Given the description of an element on the screen output the (x, y) to click on. 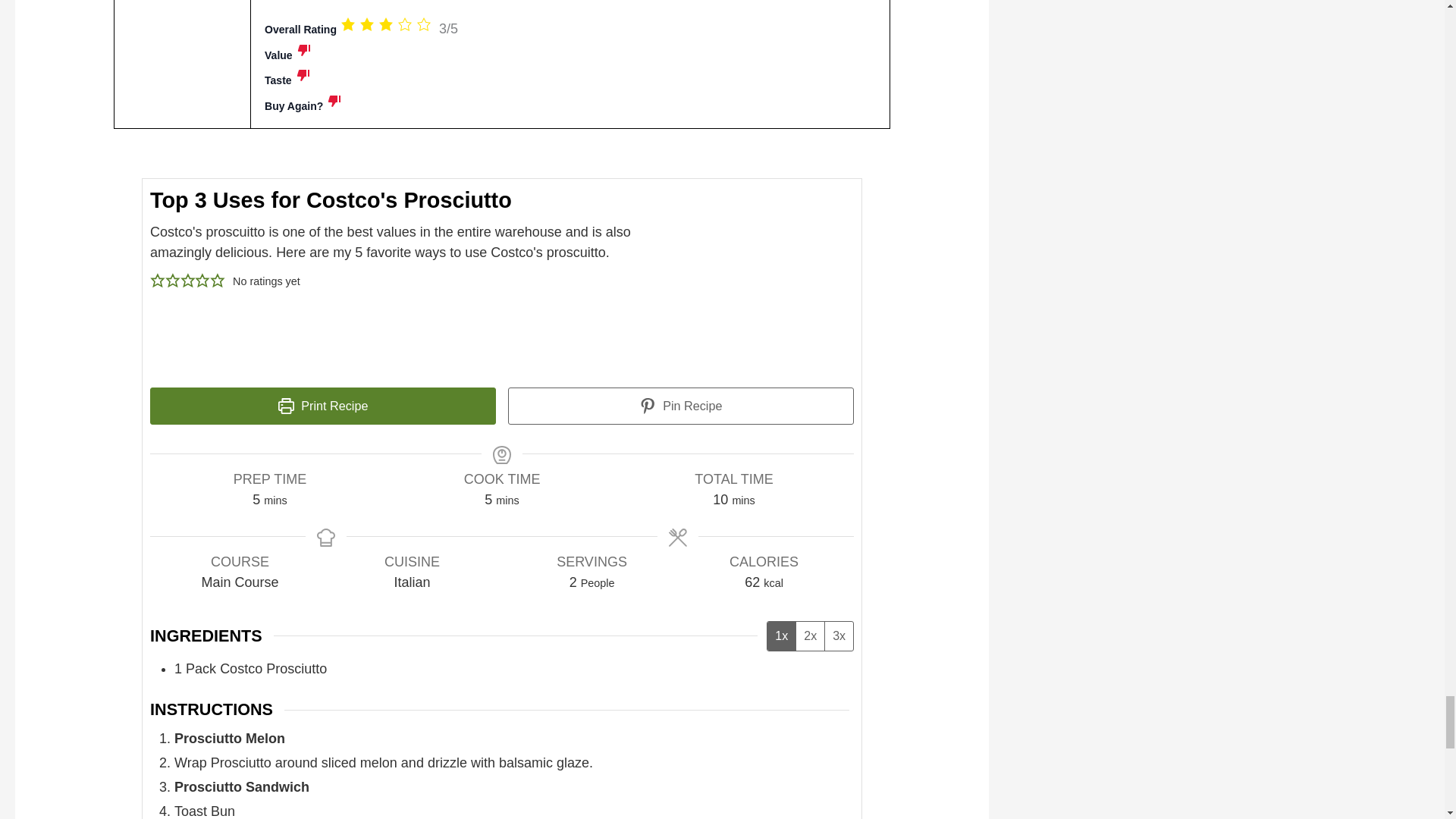
Print Recipe (322, 406)
Pin Recipe (680, 406)
2x (809, 635)
1x (780, 635)
3x (838, 635)
